Given the description of an element on the screen output the (x, y) to click on. 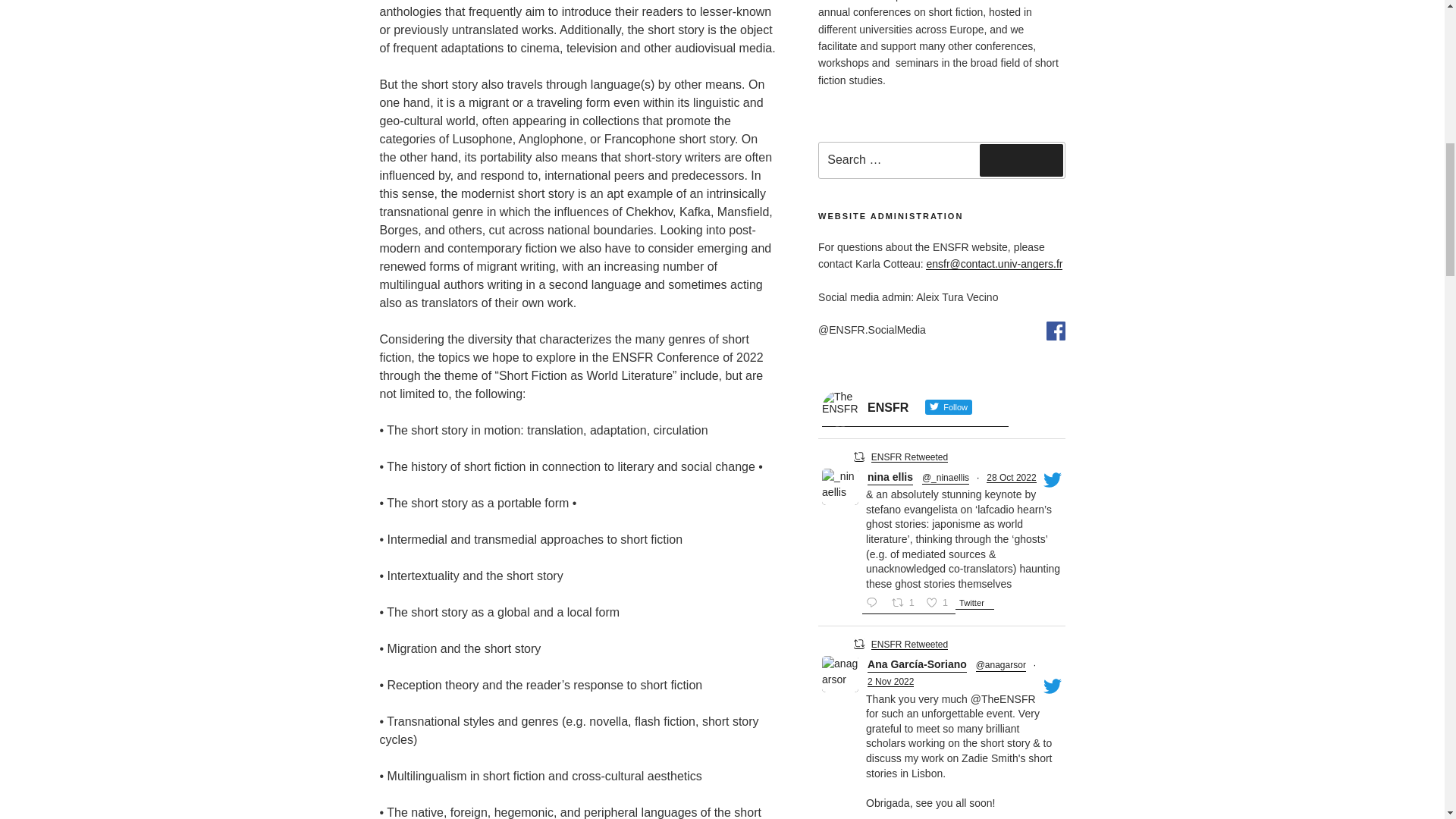
ENSFR Follow (915, 408)
Search (1020, 160)
Retweet on Twitter (858, 455)
